Given the description of an element on the screen output the (x, y) to click on. 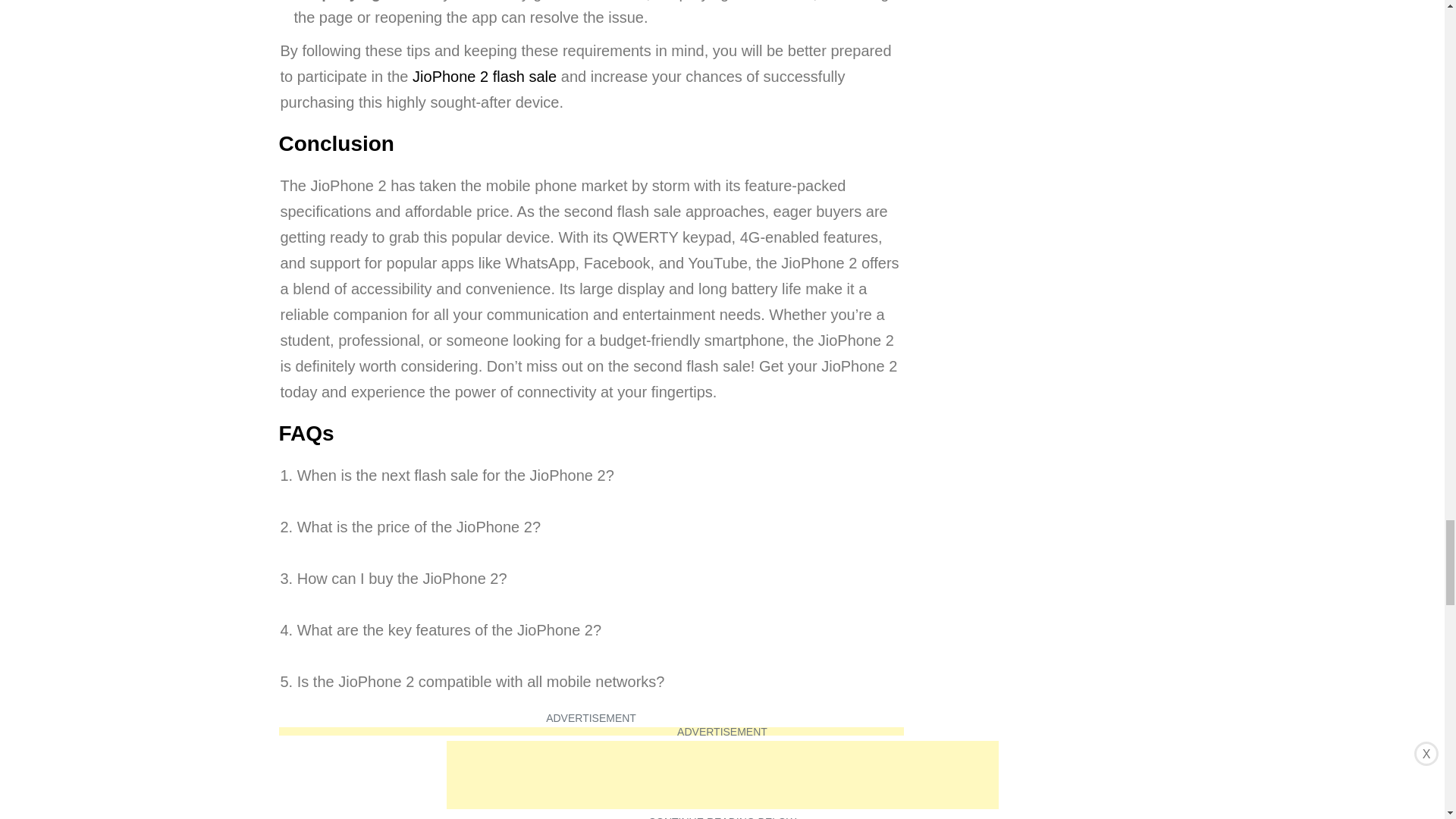
JioPhone 2 flash sale (484, 76)
